Given the description of an element on the screen output the (x, y) to click on. 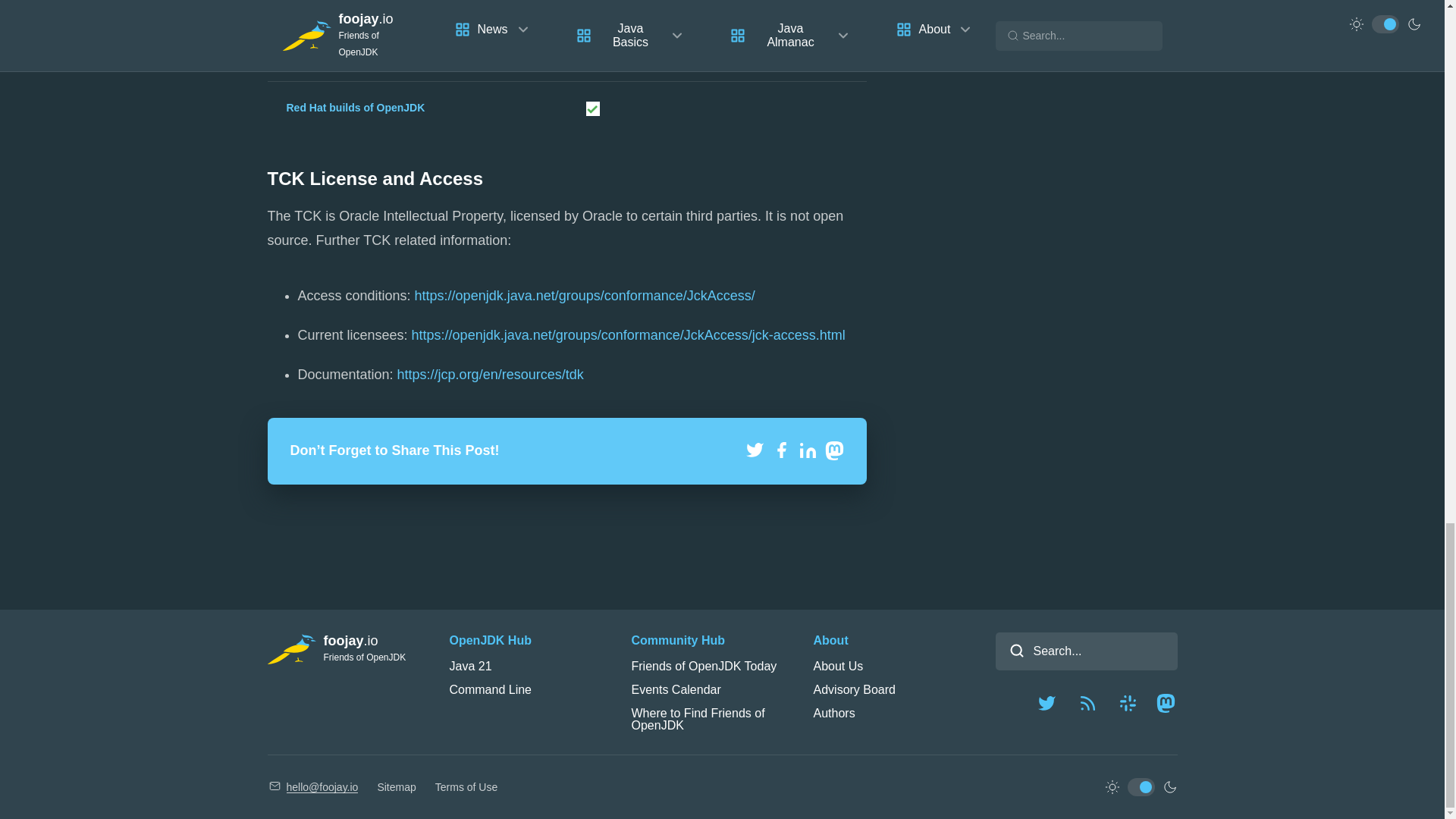
Oracle Java (316, 54)
Red Hat builds of OpenJDK (355, 107)
Oracle builds of OpenJDK (351, 3)
